Given the description of an element on the screen output the (x, y) to click on. 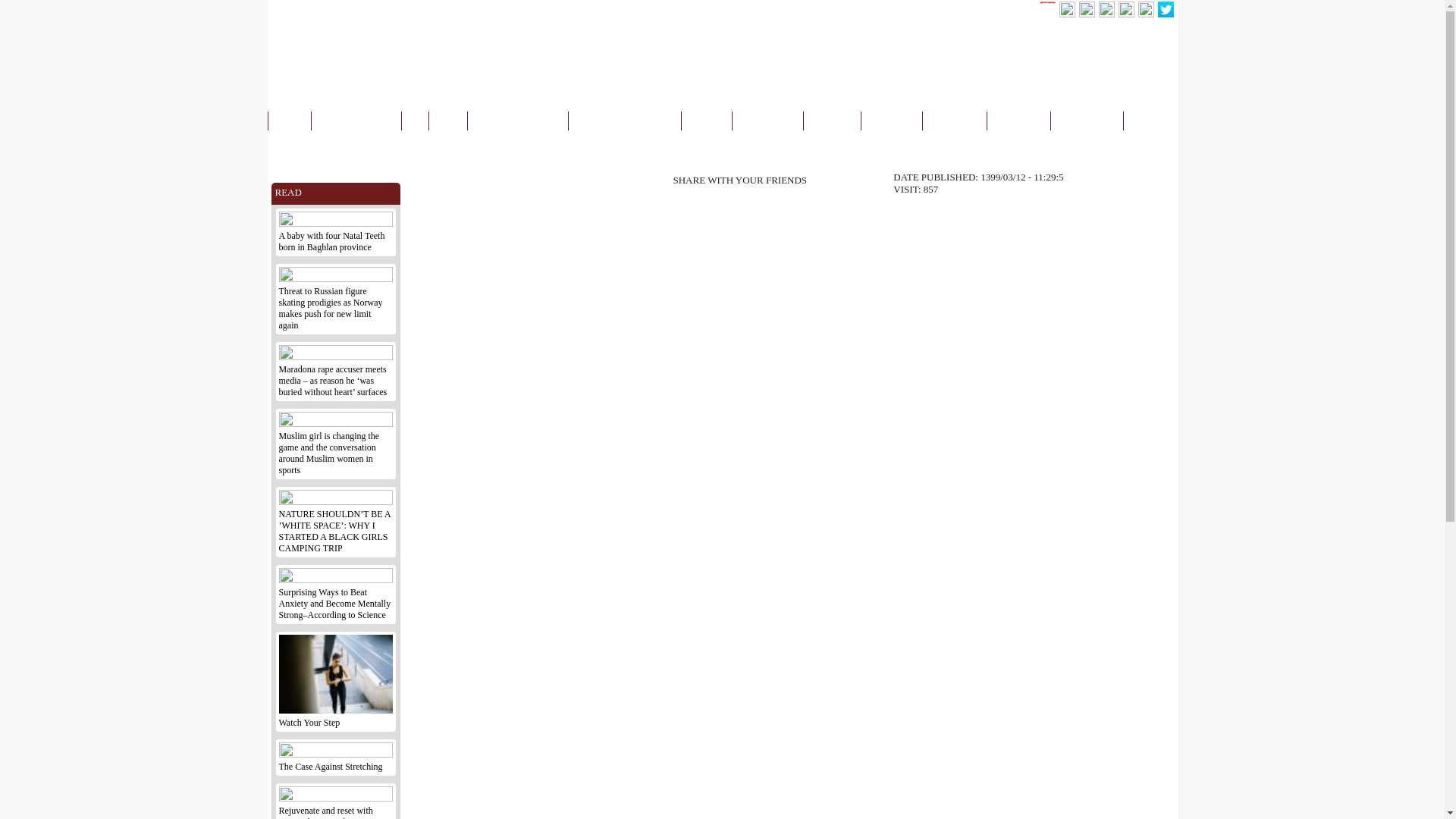
RSS (391, 8)
ENGLISH (1013, 8)
AFGHANISTAN (356, 120)
ART AND CULTURE (624, 120)
FA (956, 8)
AR (974, 8)
ECONOMIC (767, 120)
INTERNATIONAL (517, 120)
Formation of the Federalist Assembly of Afghanistan (1236, 137)
PS (995, 8)
HOME (288, 120)
CONTACT US (347, 8)
PHOTOS (1149, 120)
MEDICAL (891, 120)
ABOUT US (291, 8)
